Given the description of an element on the screen output the (x, y) to click on. 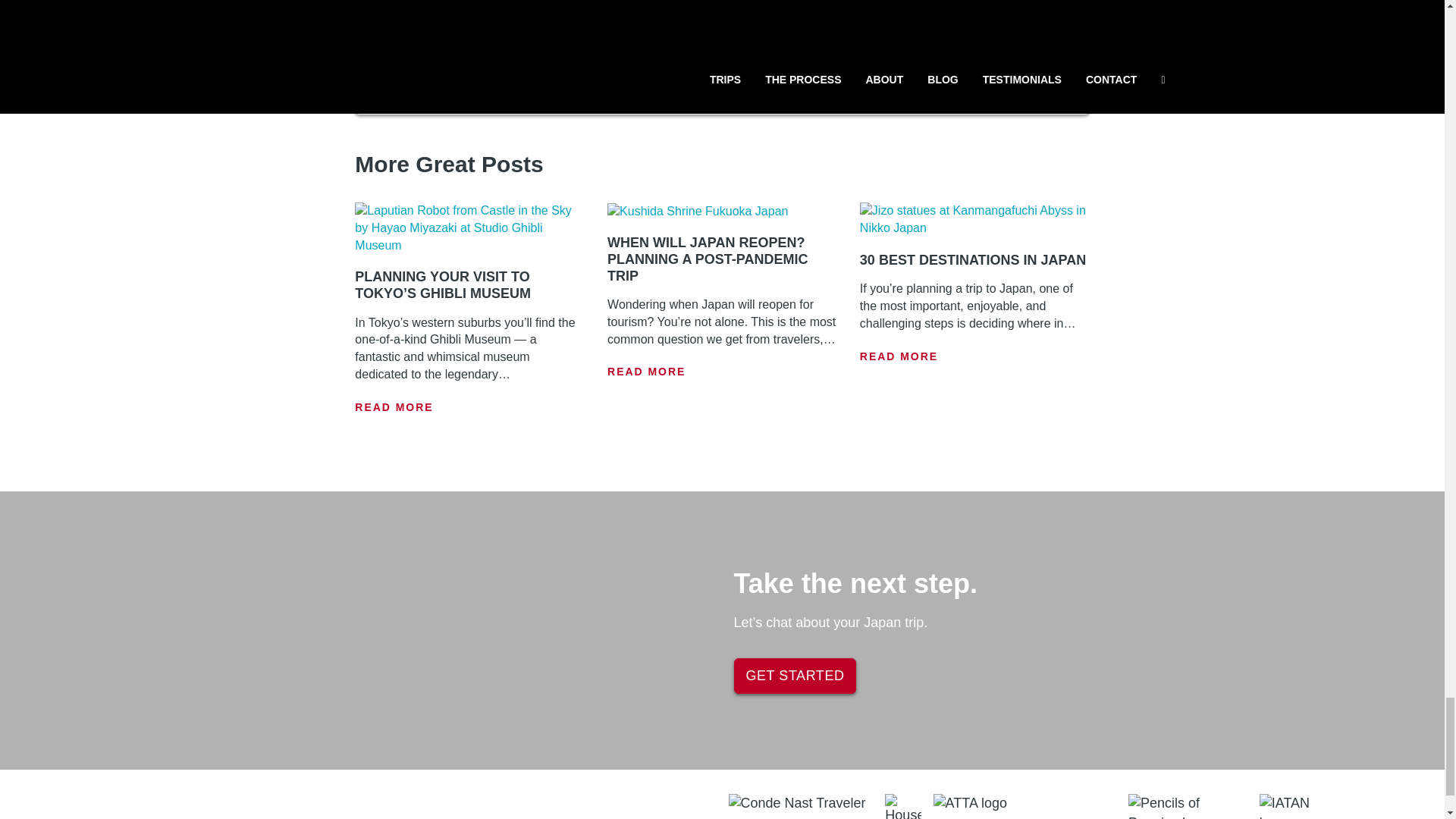
wonderful travelers (697, 63)
Andres (473, 46)
